Given the description of an element on the screen output the (x, y) to click on. 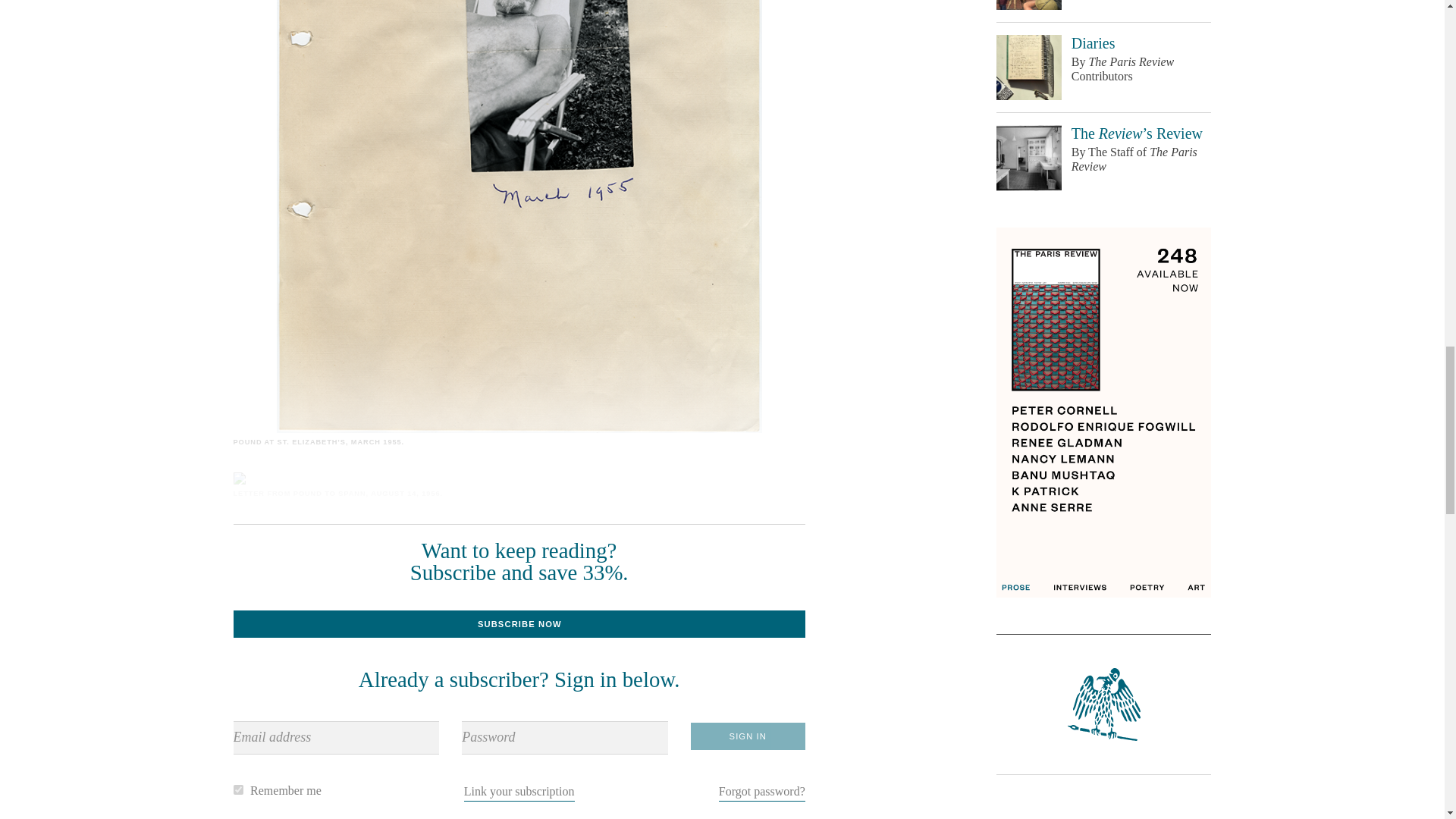
remember (237, 789)
Sign In (747, 736)
